Given the description of an element on the screen output the (x, y) to click on. 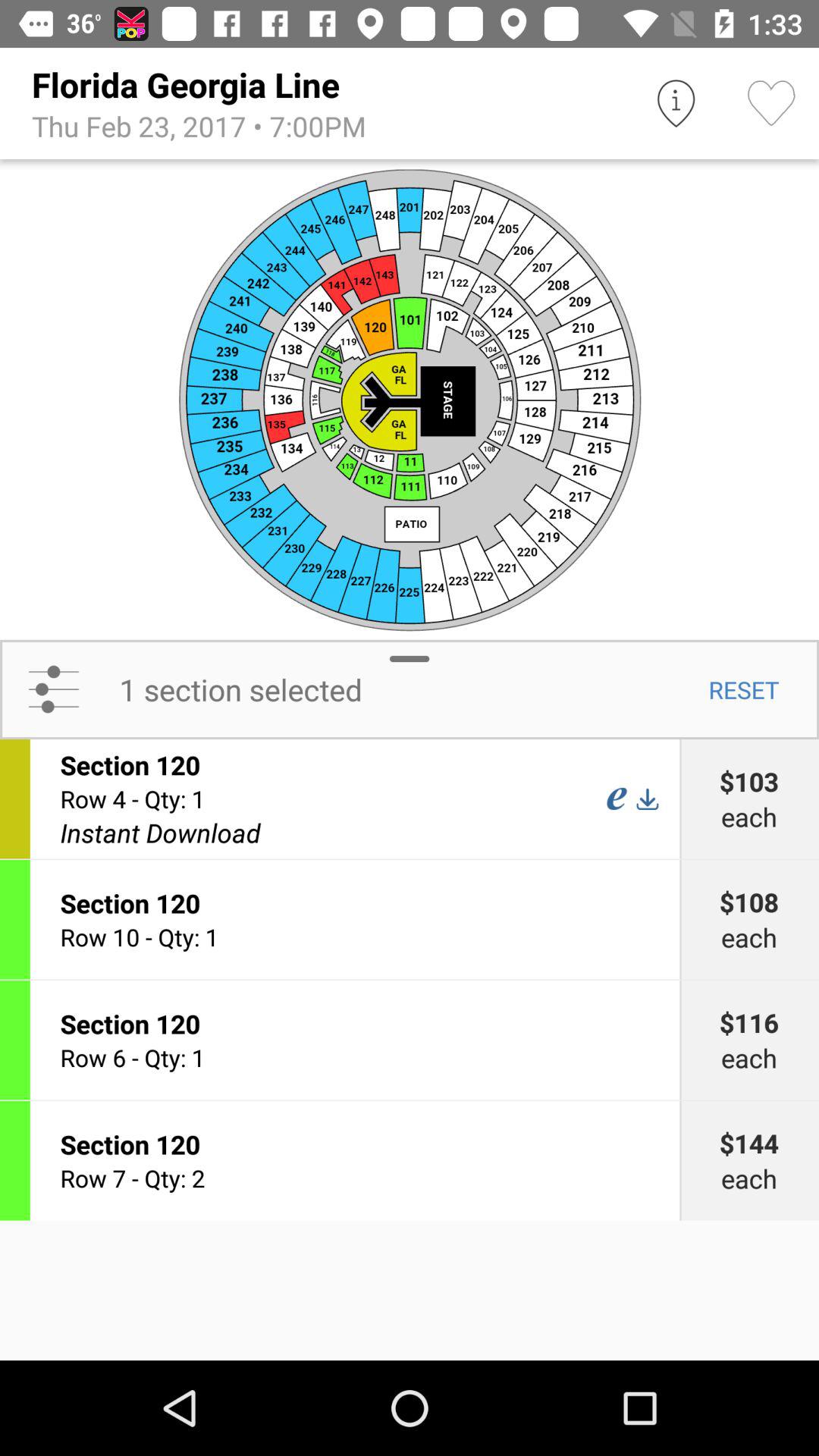
view image (409, 399)
